Given the description of an element on the screen output the (x, y) to click on. 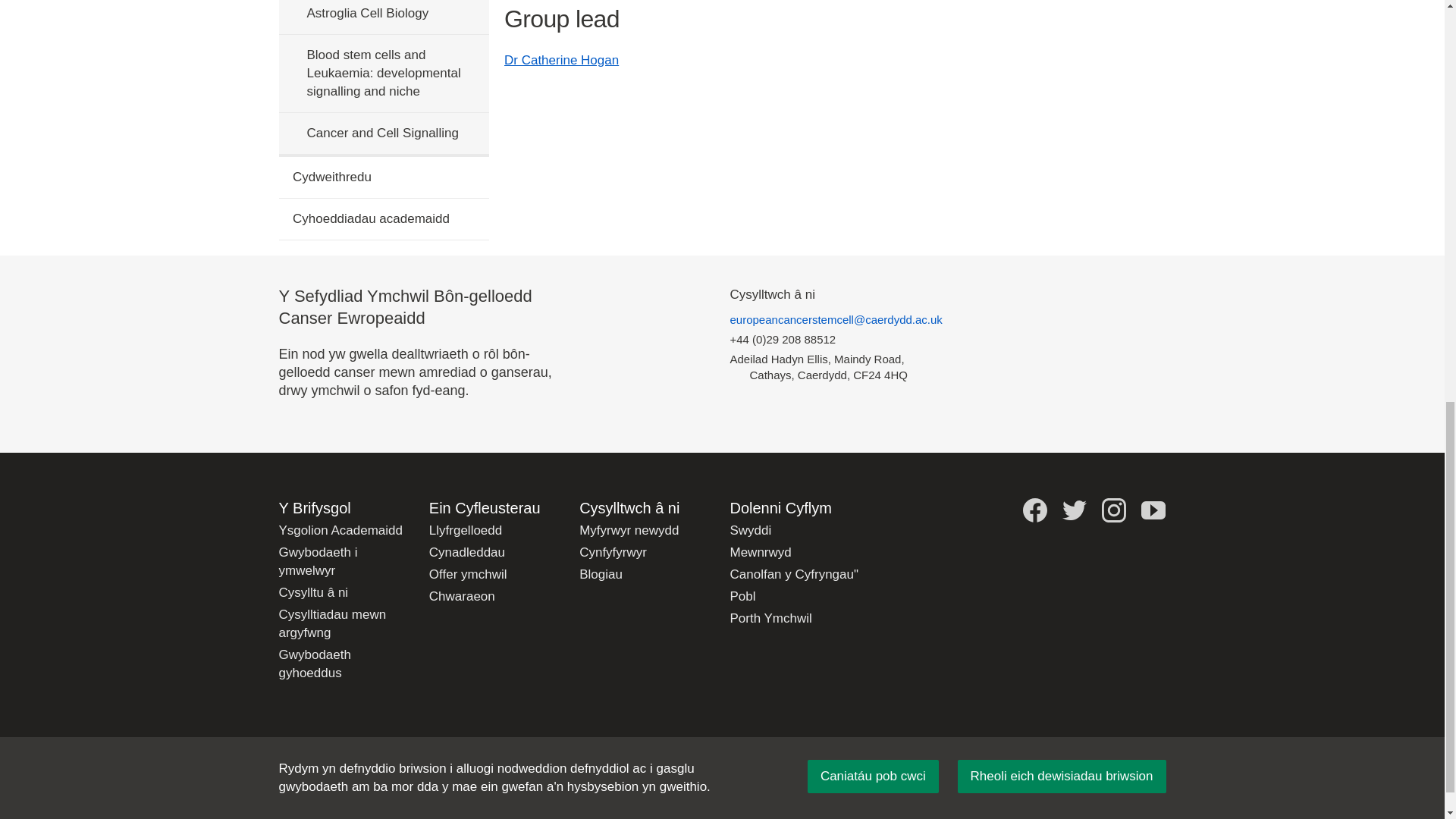
Youtube (1153, 509)
instagram (1113, 509)
facebook (1034, 509)
twitter no background icon (1074, 509)
